Given the description of an element on the screen output the (x, y) to click on. 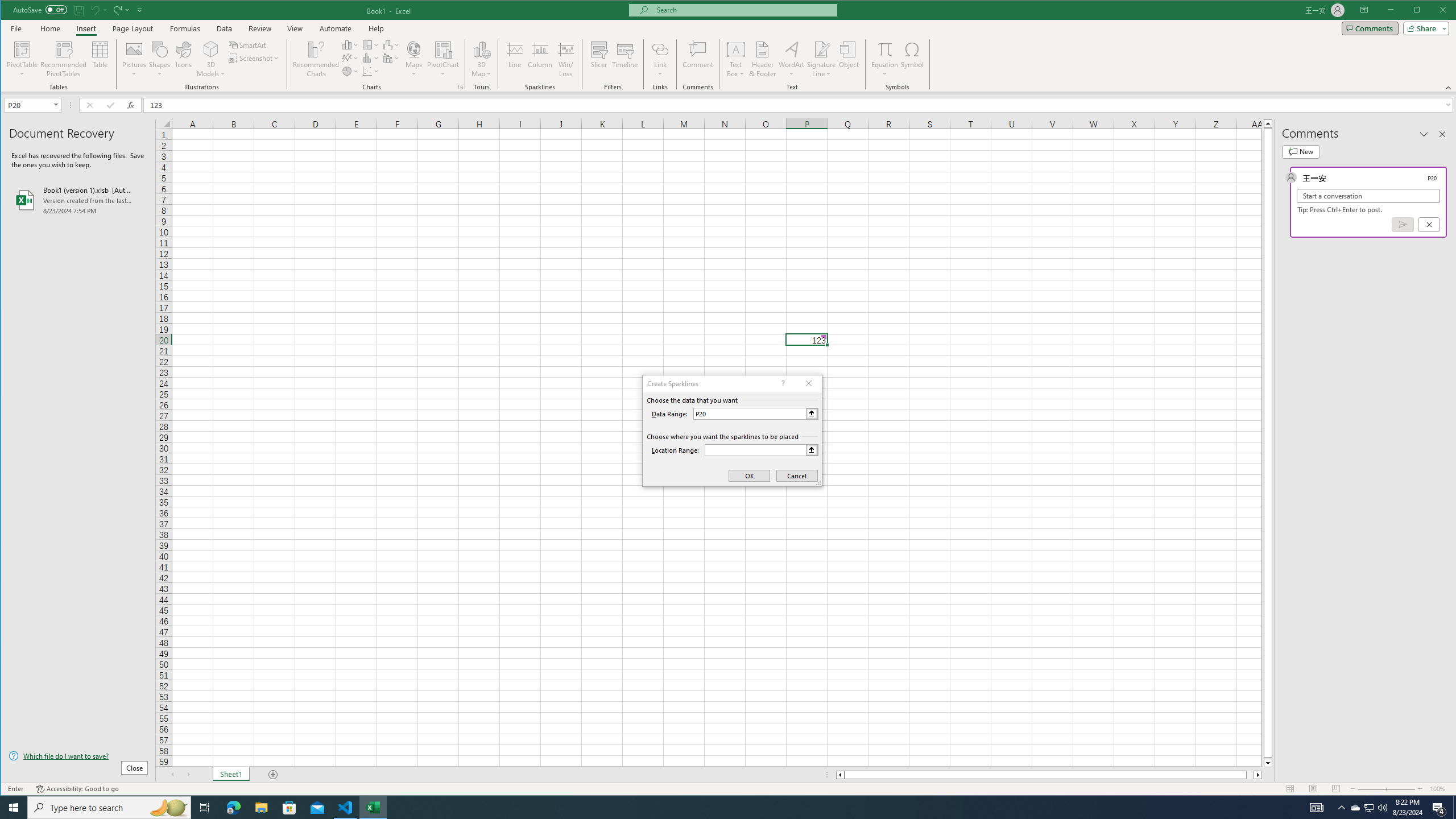
Icons (183, 59)
Object... (848, 59)
Link (659, 59)
3D Map (481, 59)
Symbol... (912, 59)
Table (100, 59)
